Given the description of an element on the screen output the (x, y) to click on. 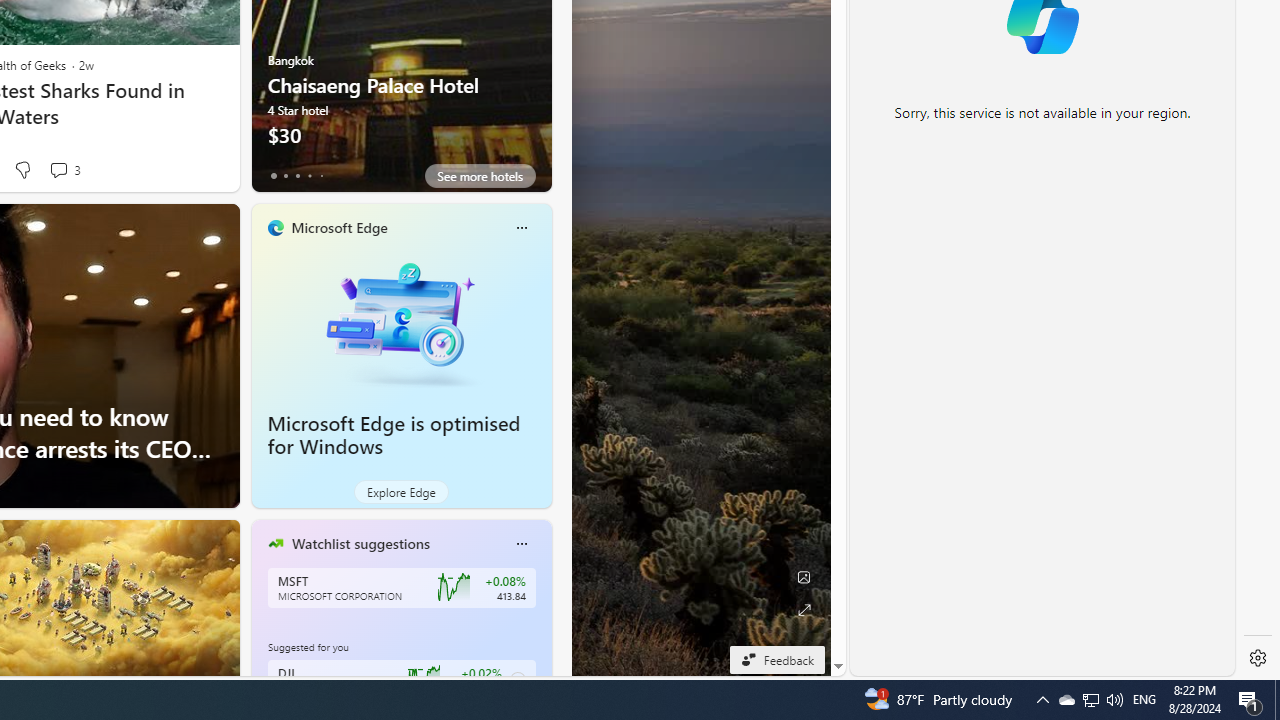
More options (521, 543)
Class: follow-button  m (517, 679)
Microsoft Edge (338, 227)
tab-3 (309, 175)
Dislike (21, 170)
Explore Edge (401, 491)
Edit Background (803, 577)
Expand background (803, 610)
tab-0 (273, 175)
View comments 3 Comment (64, 170)
Watchlist suggestions (360, 543)
tab-1 (285, 175)
